Given the description of an element on the screen output the (x, y) to click on. 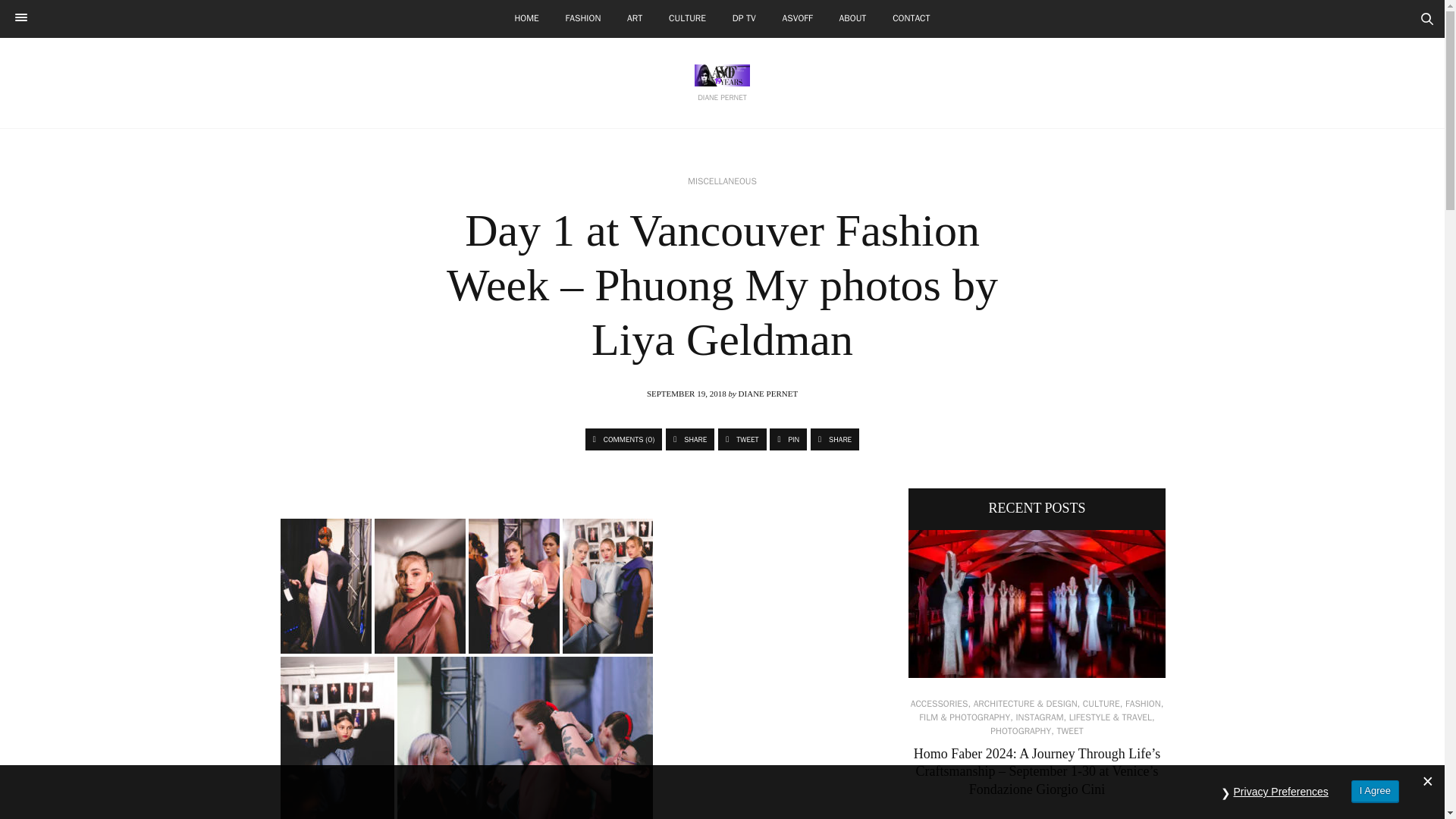
A Shaded View on Fashion (721, 75)
ABOUT (852, 18)
COMMENTS (623, 439)
ASVOFF (797, 18)
FASHION (583, 18)
PIN (788, 439)
DP TV (743, 18)
HOME (526, 18)
Posts by Diane Pernet (767, 393)
CONTACT (910, 18)
